Given the description of an element on the screen output the (x, y) to click on. 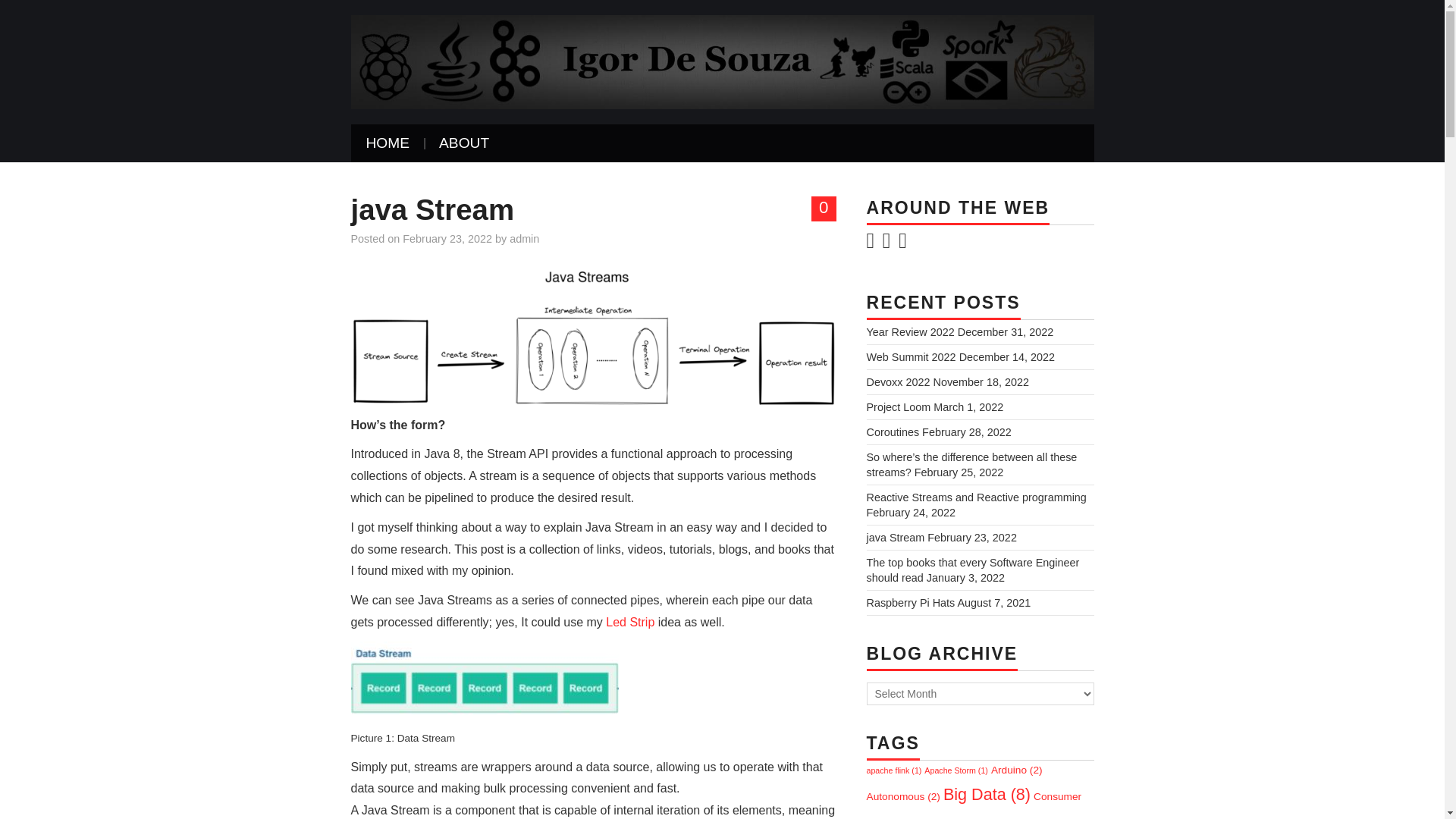
3:18 pm (447, 238)
Reactive Streams and Reactive programming (976, 497)
Coroutines (892, 431)
ABOUT (463, 143)
java Stream (895, 537)
February 23, 2022 (447, 238)
Led Strip (629, 621)
Year Review 2022 (909, 331)
Raspberry Pi Hats (910, 603)
Devoxx 2022 (898, 381)
View all posts by admin (523, 238)
0 (822, 208)
Project Loom (898, 407)
The top books that every Software Engineer should read (972, 569)
Web Summit 2022 (910, 357)
